Given the description of an element on the screen output the (x, y) to click on. 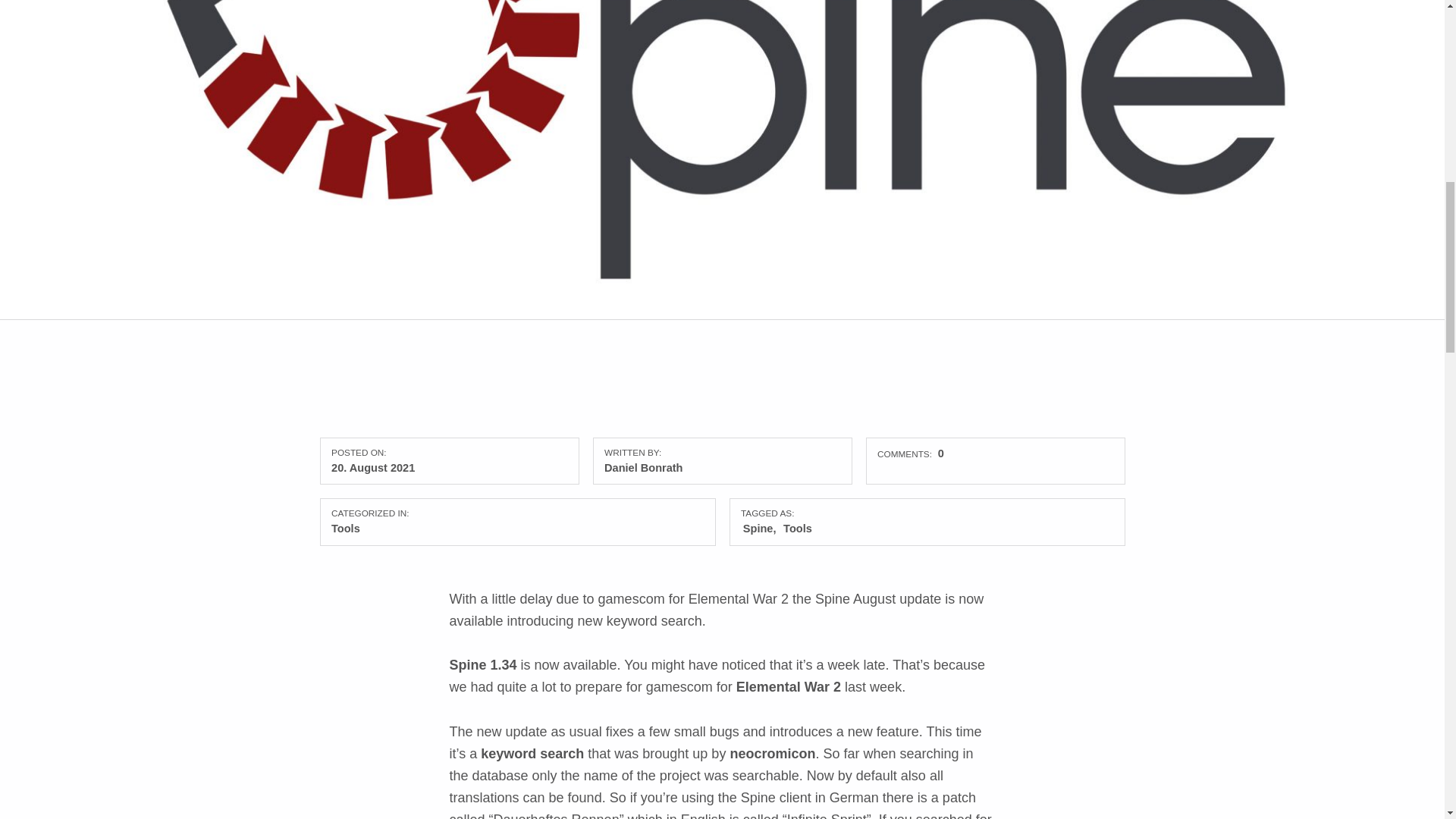
COMMENTS: 0 (910, 453)
Comments: 0 (910, 453)
Spine (759, 528)
Daniel Bonrath (643, 467)
Posted on: 20. August 2021 (372, 467)
Tools (797, 528)
20. August 2021 (372, 467)
Tools (345, 528)
